Given the description of an element on the screen output the (x, y) to click on. 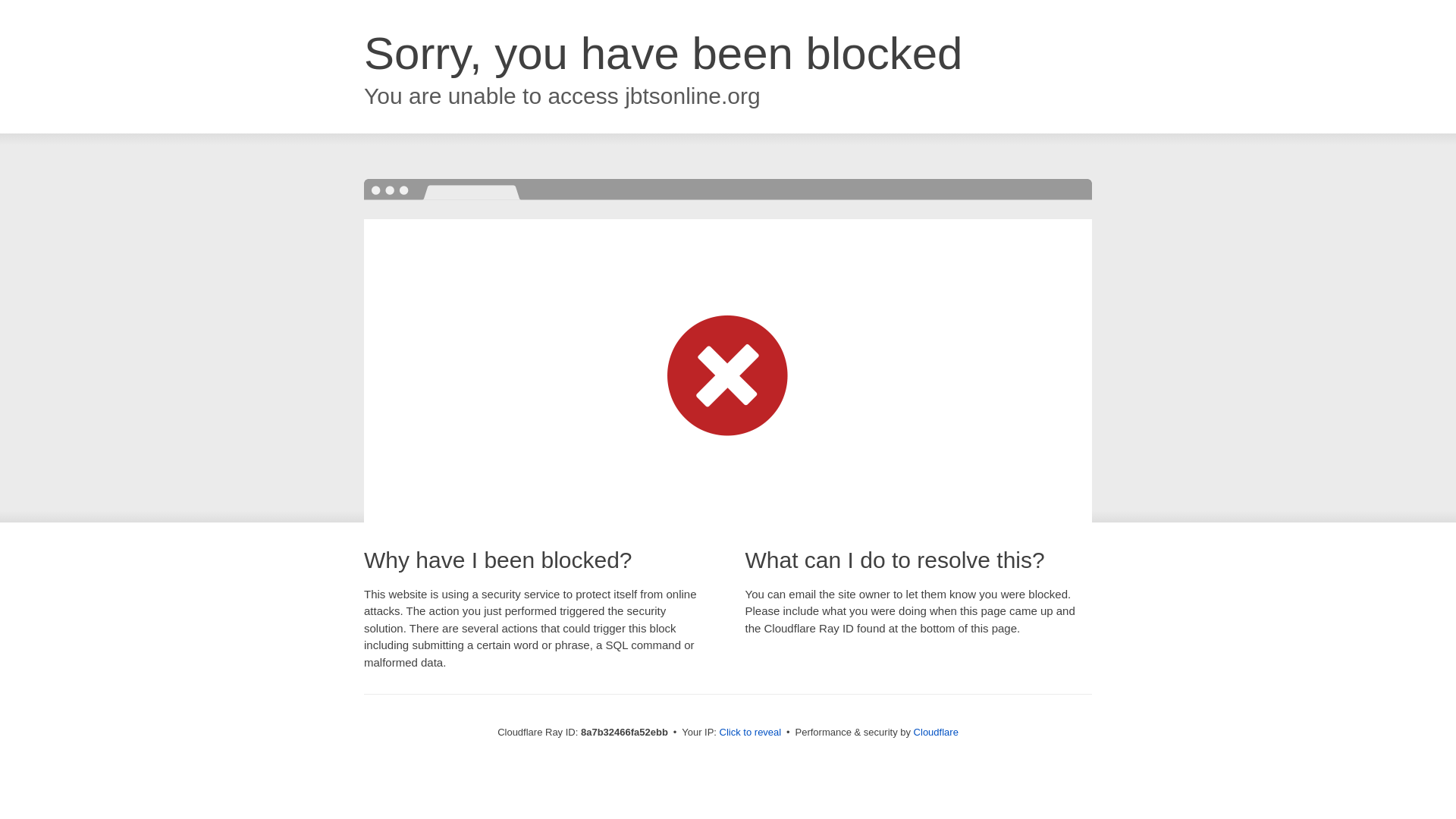
Click to reveal (750, 732)
Cloudflare (936, 731)
